Given the description of an element on the screen output the (x, y) to click on. 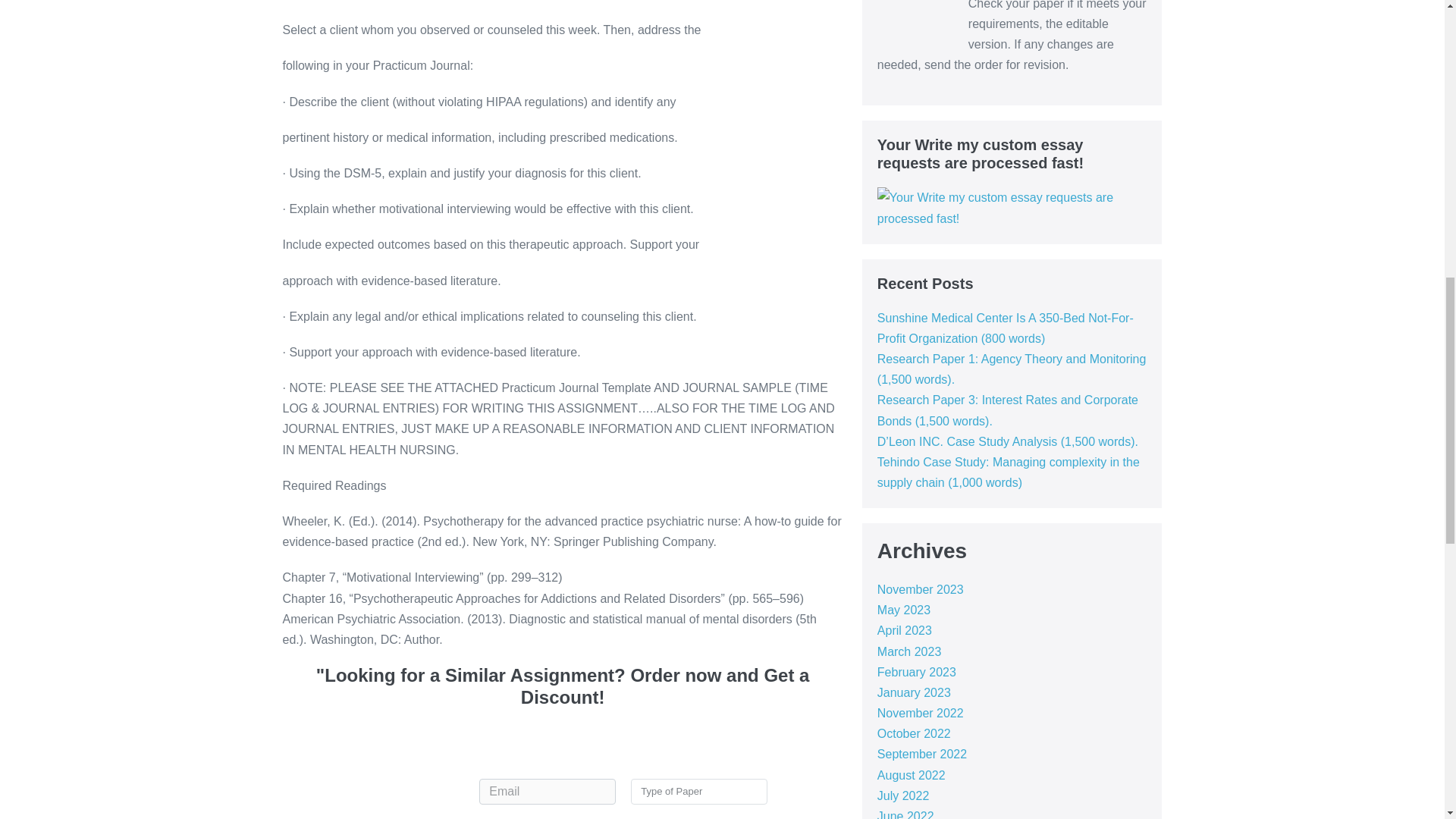
November 2023 (920, 589)
May 2023 (903, 609)
April 2023 (904, 630)
March 2023 (909, 651)
